Given the description of an element on the screen output the (x, y) to click on. 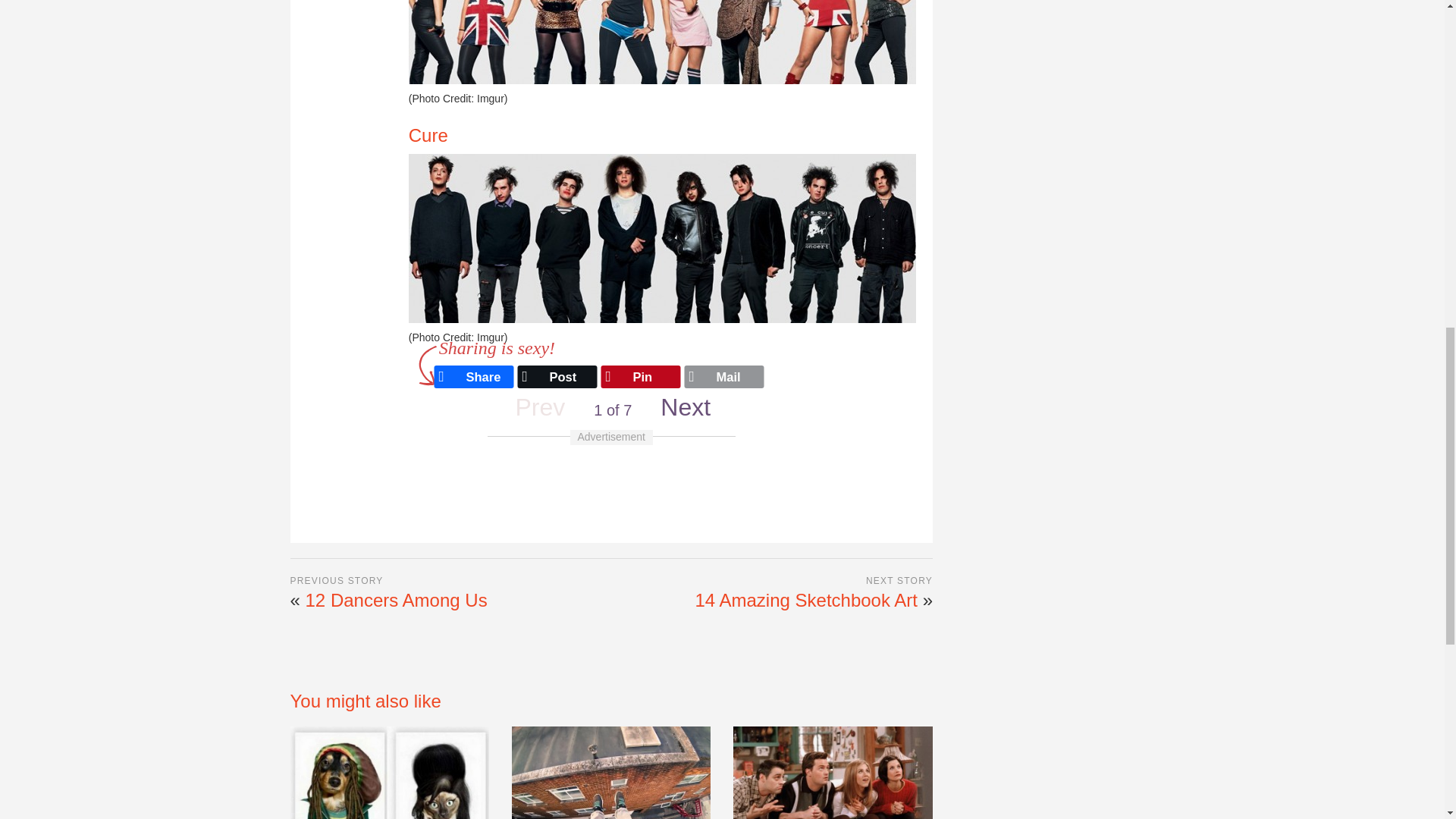
Facebook (458, 371)
12 Dancers Among Us (396, 599)
Advertisement (610, 486)
14 Amazing Sketchbook Art (805, 599)
Prev (539, 407)
Email This (708, 371)
Advertisement (1068, 65)
Next (684, 407)
Pinterest (625, 371)
